Given the description of an element on the screen output the (x, y) to click on. 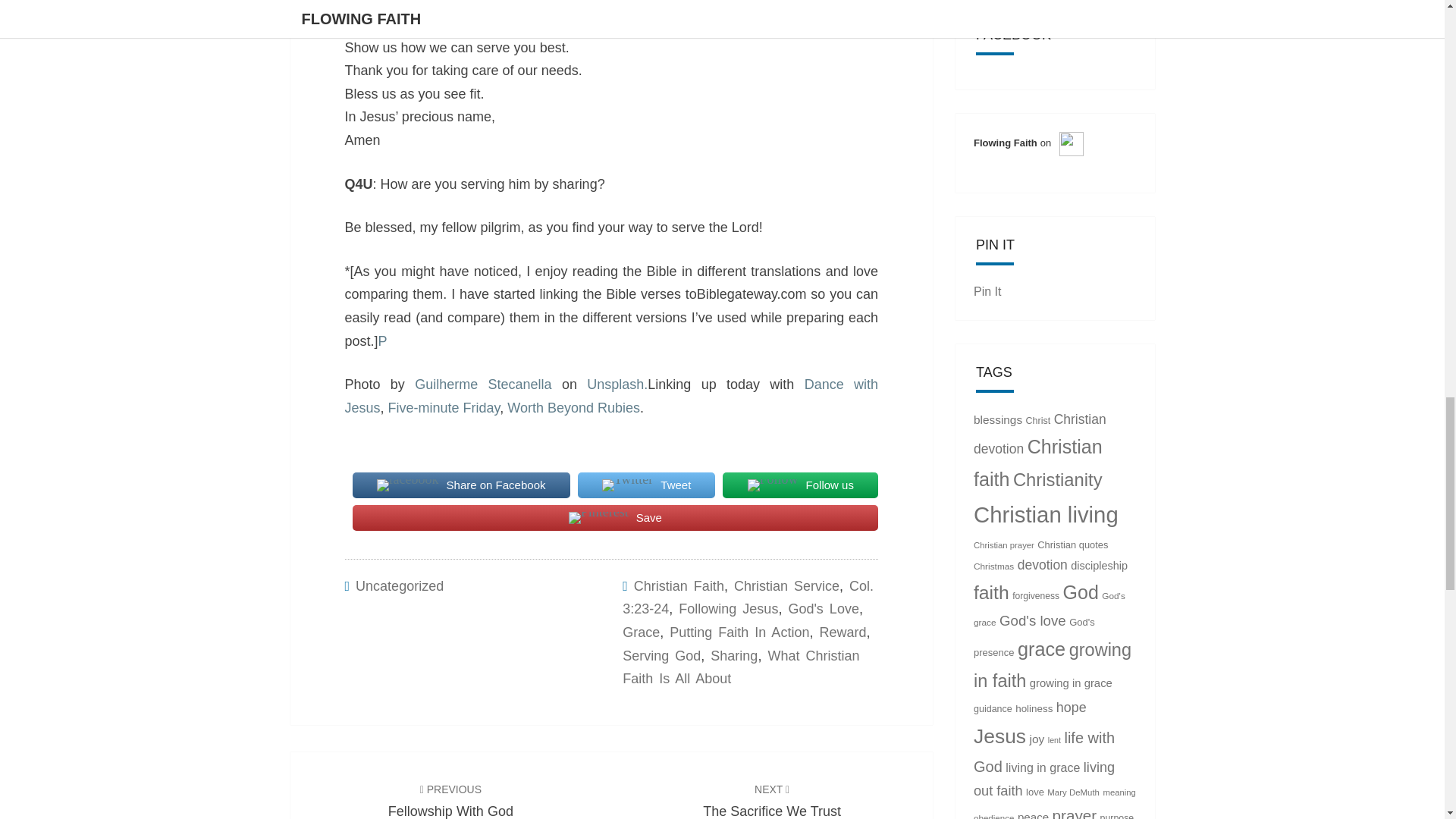
Christian Service (786, 585)
Tweet (647, 484)
Reward (842, 631)
What Christian Faith Is All About (741, 667)
Worth Beyond Rubies (573, 407)
Save (450, 800)
Unsplash. (772, 800)
Sharing (614, 517)
